Given the description of an element on the screen output the (x, y) to click on. 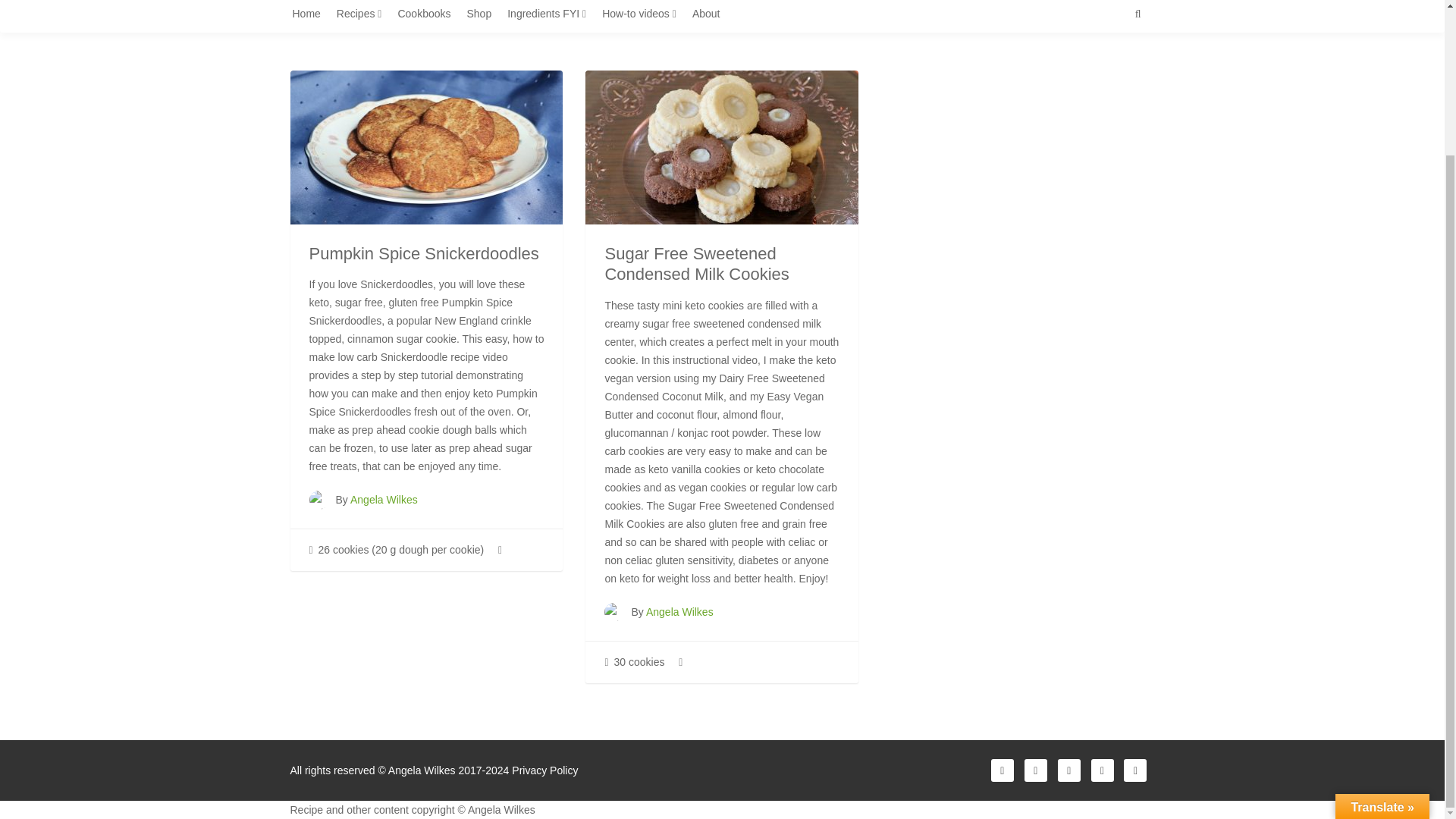
Cookbooks (429, 16)
Ingredients FYI (551, 16)
How-to videos (644, 16)
Shop (485, 16)
Recipes (364, 16)
Home (311, 16)
About (712, 16)
